Given the description of an element on the screen output the (x, y) to click on. 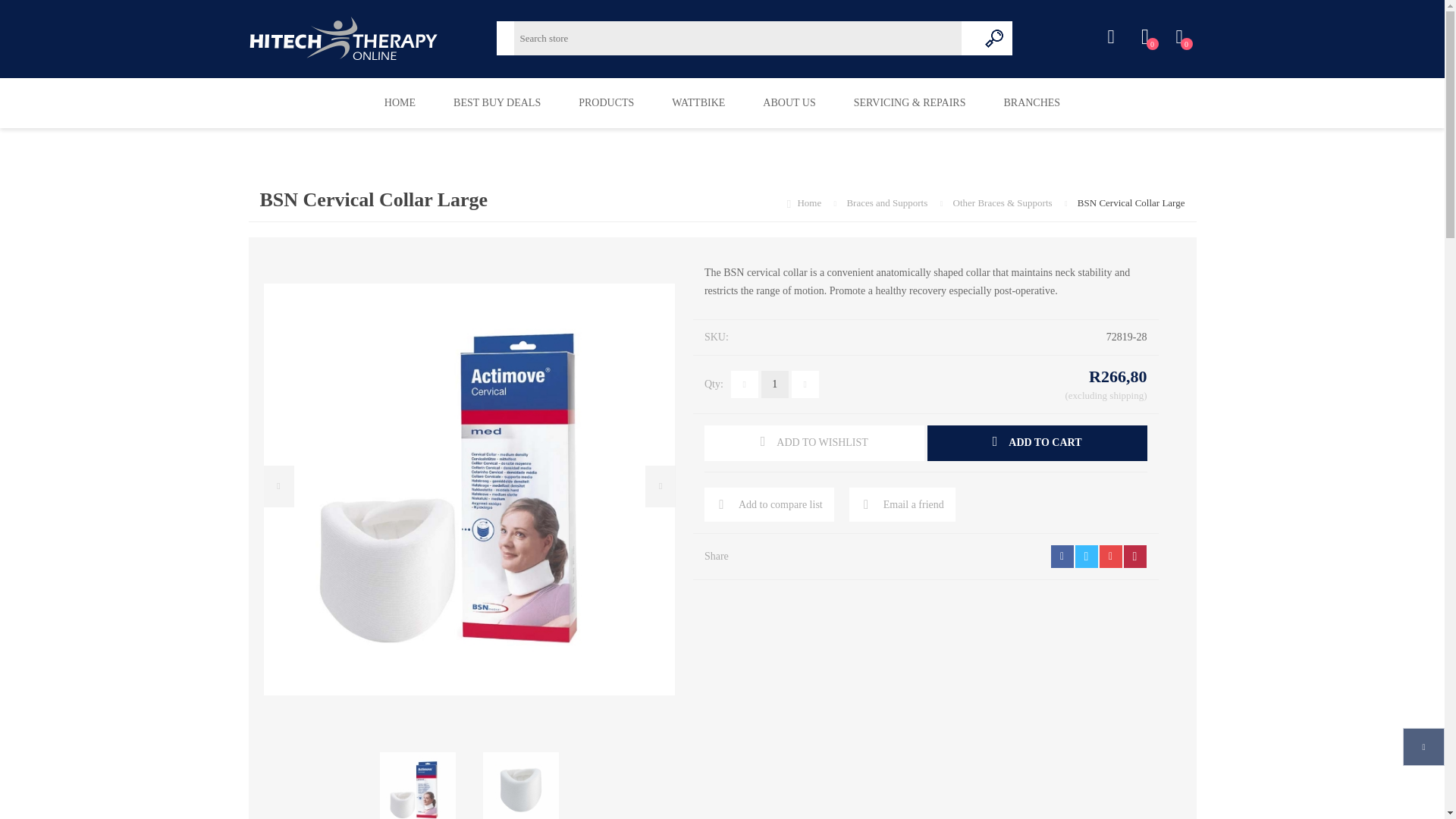
Search (994, 38)
BEST BUY DEALS (496, 102)
WATTBIKE (698, 102)
Shopping cart (1178, 37)
Braces and Supports (887, 202)
ABOUT US (789, 102)
Branches (1031, 102)
Home (810, 202)
BRANCHES (1031, 102)
PRODUCTS (605, 102)
